Given the description of an element on the screen output the (x, y) to click on. 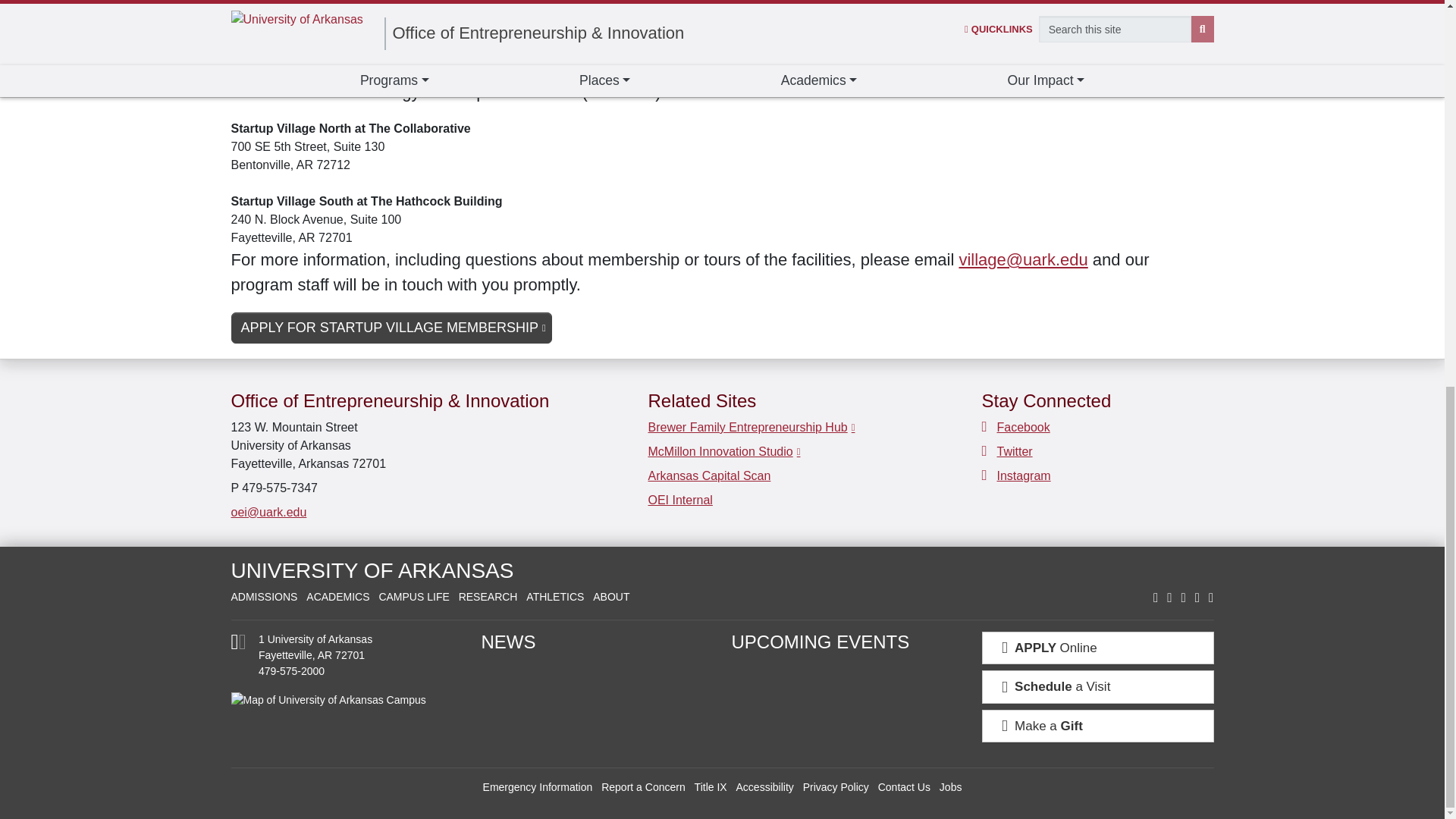
About the University of Arkansas (610, 596)
University of Arkansas Home Page (371, 570)
University of Arkansas Admissions (263, 596)
University of Arkansas Athletics (554, 596)
University of Arkansas Academics (337, 596)
View Campus Maps (346, 699)
Campus Life at the University of Arkansas (413, 596)
University of Arkansas Research (488, 596)
View Campus Maps (238, 645)
